Given the description of an element on the screen output the (x, y) to click on. 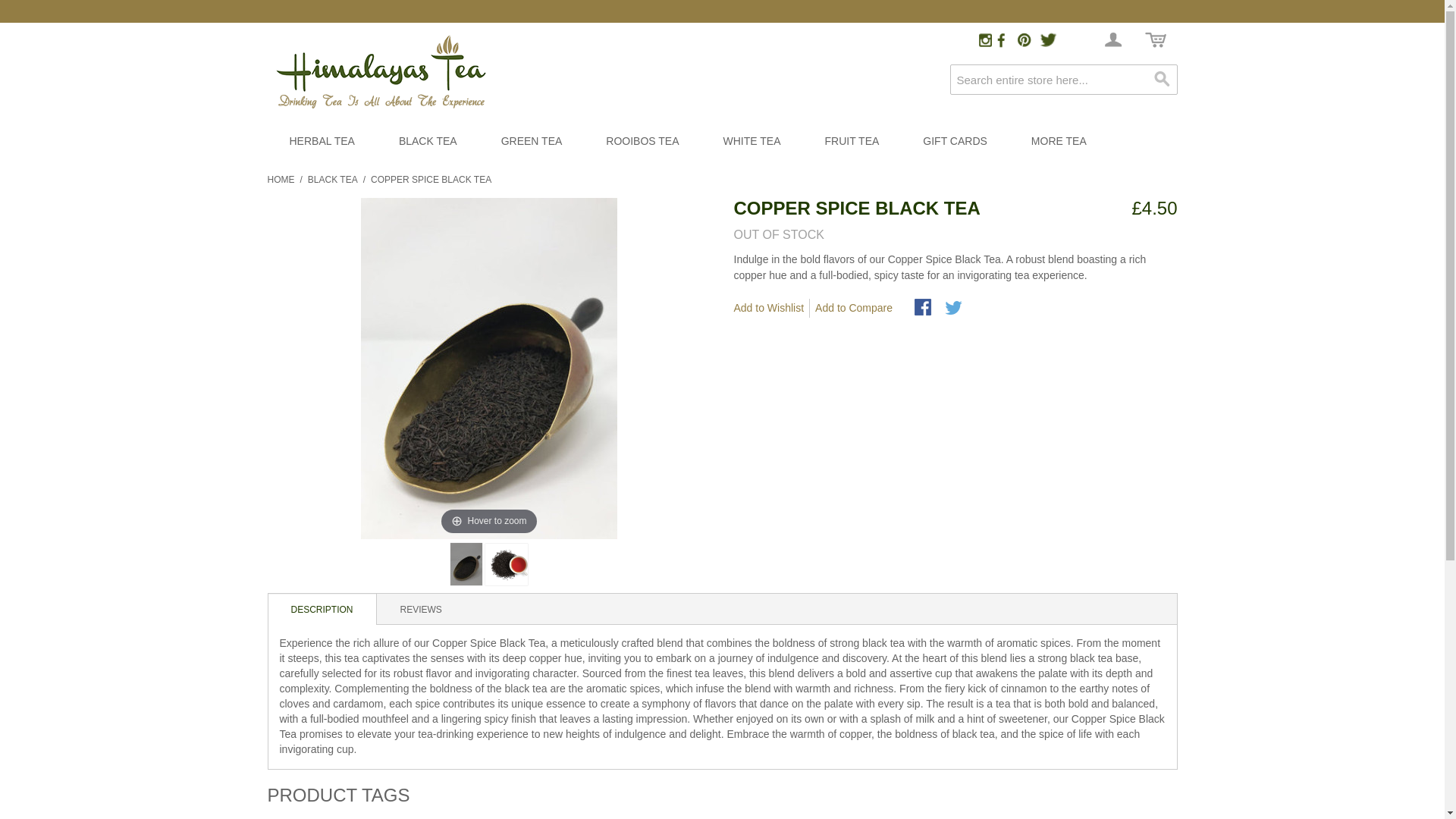
BLACK TEA (332, 179)
HERBAL TEA (320, 145)
Add to Wishlist (771, 307)
ROOIBOS TEA (641, 145)
Share Facebook (924, 308)
Copper Spice Black Tea (465, 563)
Add to Compare (856, 307)
WHITE TEA (752, 145)
FRUIT TEA (851, 145)
GREEN TEA (532, 145)
Go to Home Page (280, 179)
GIFT CARDS (955, 145)
Share on Facebook (924, 308)
HOME (280, 179)
Search (1161, 79)
